Given the description of an element on the screen output the (x, y) to click on. 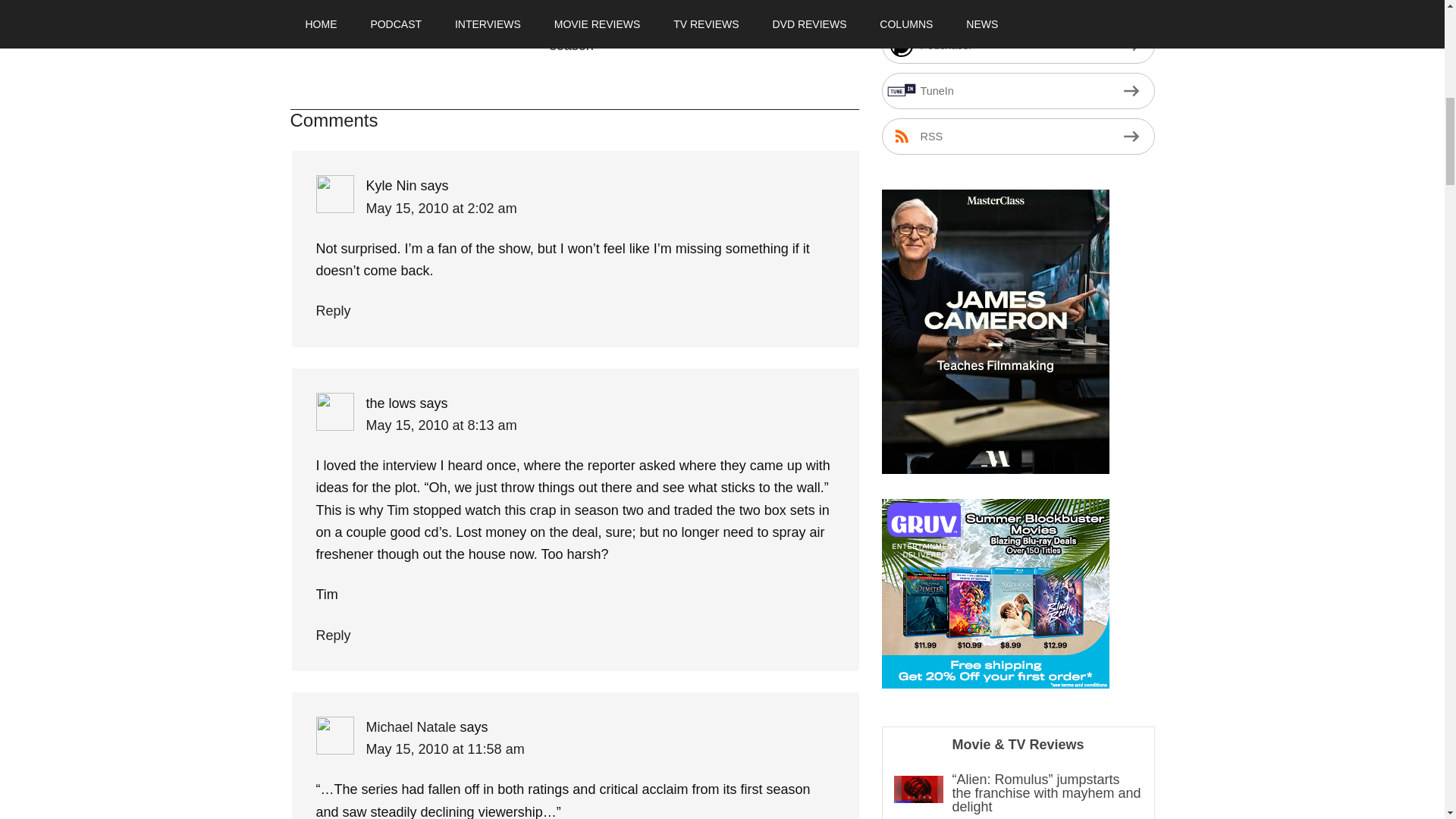
Subscribe on iHeartRadio (1017, 9)
Subscribe on TuneIn (1017, 90)
Reply (332, 310)
May 15, 2010 at 8:13 am (440, 425)
May 15, 2010 at 11:58 am (444, 749)
Reply (332, 635)
Michael Natale (410, 726)
Subscribe via RSS (1017, 135)
Subscribe on Podchaser (1017, 45)
May 15, 2010 at 2:02 am (440, 208)
